Given the description of an element on the screen output the (x, y) to click on. 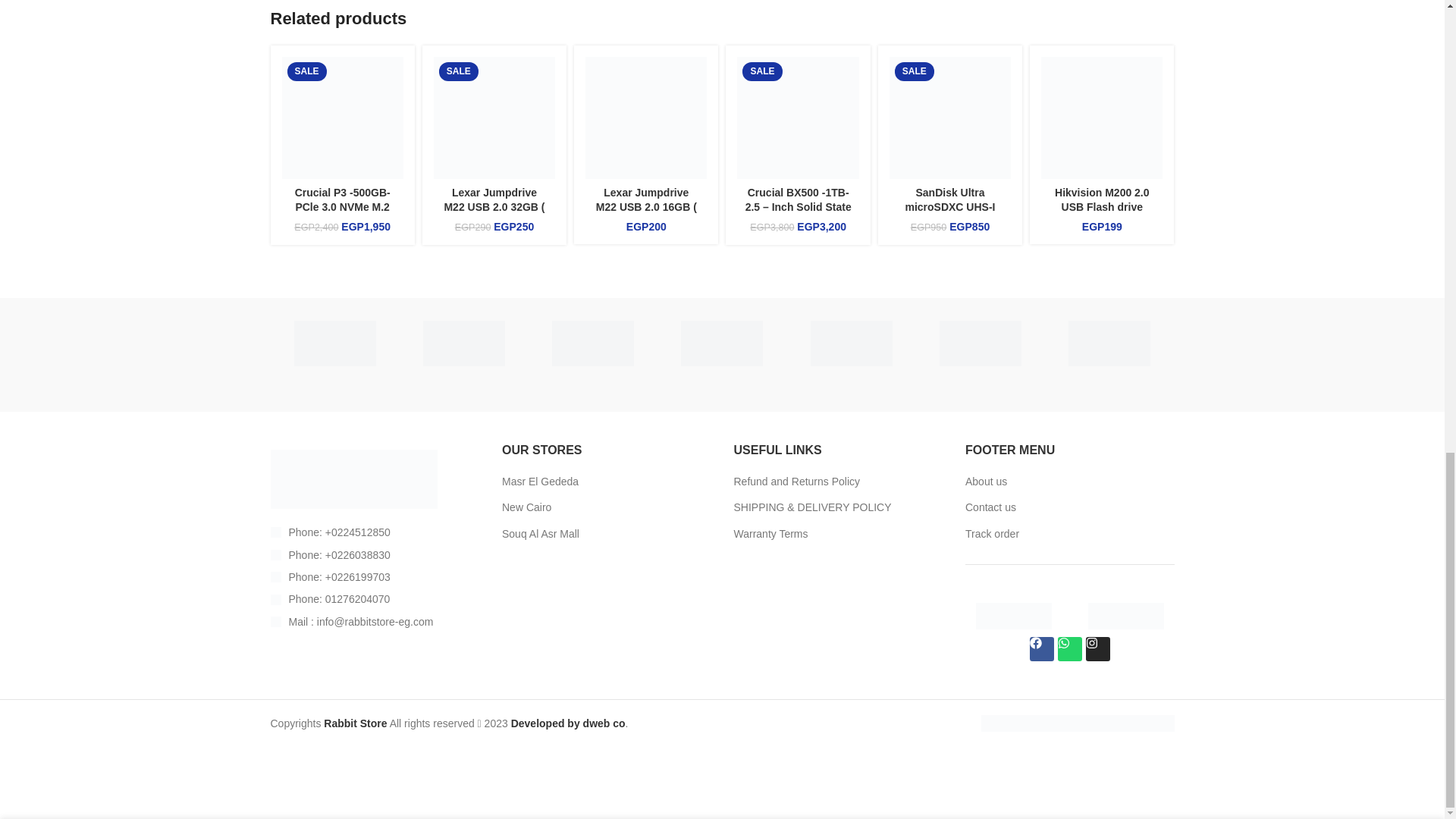
RECCI (333, 343)
Google (722, 343)
PLAYSTATION (463, 343)
KINGSTON (593, 343)
